Given the description of an element on the screen output the (x, y) to click on. 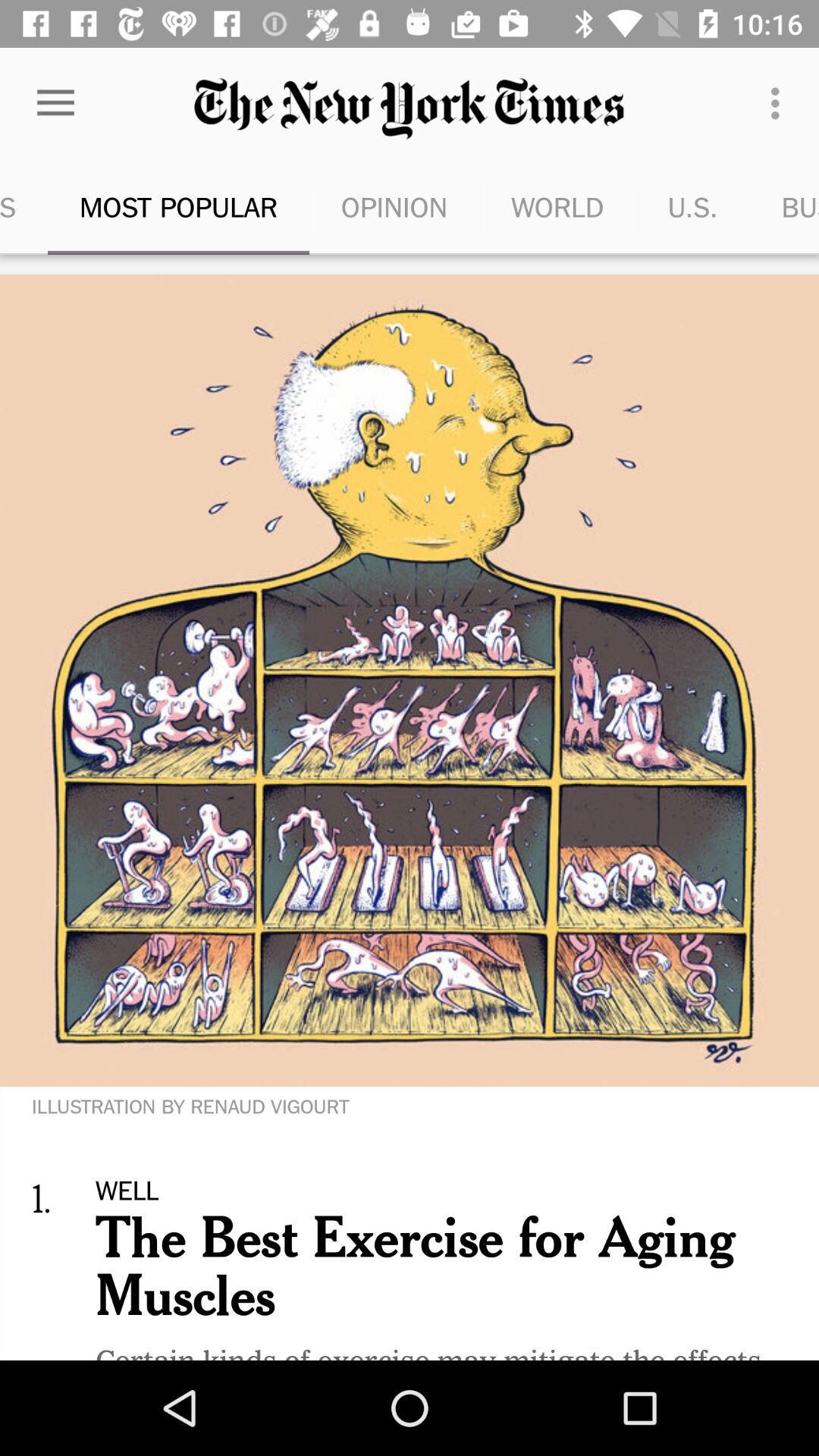
turn off most popular icon (178, 206)
